Given the description of an element on the screen output the (x, y) to click on. 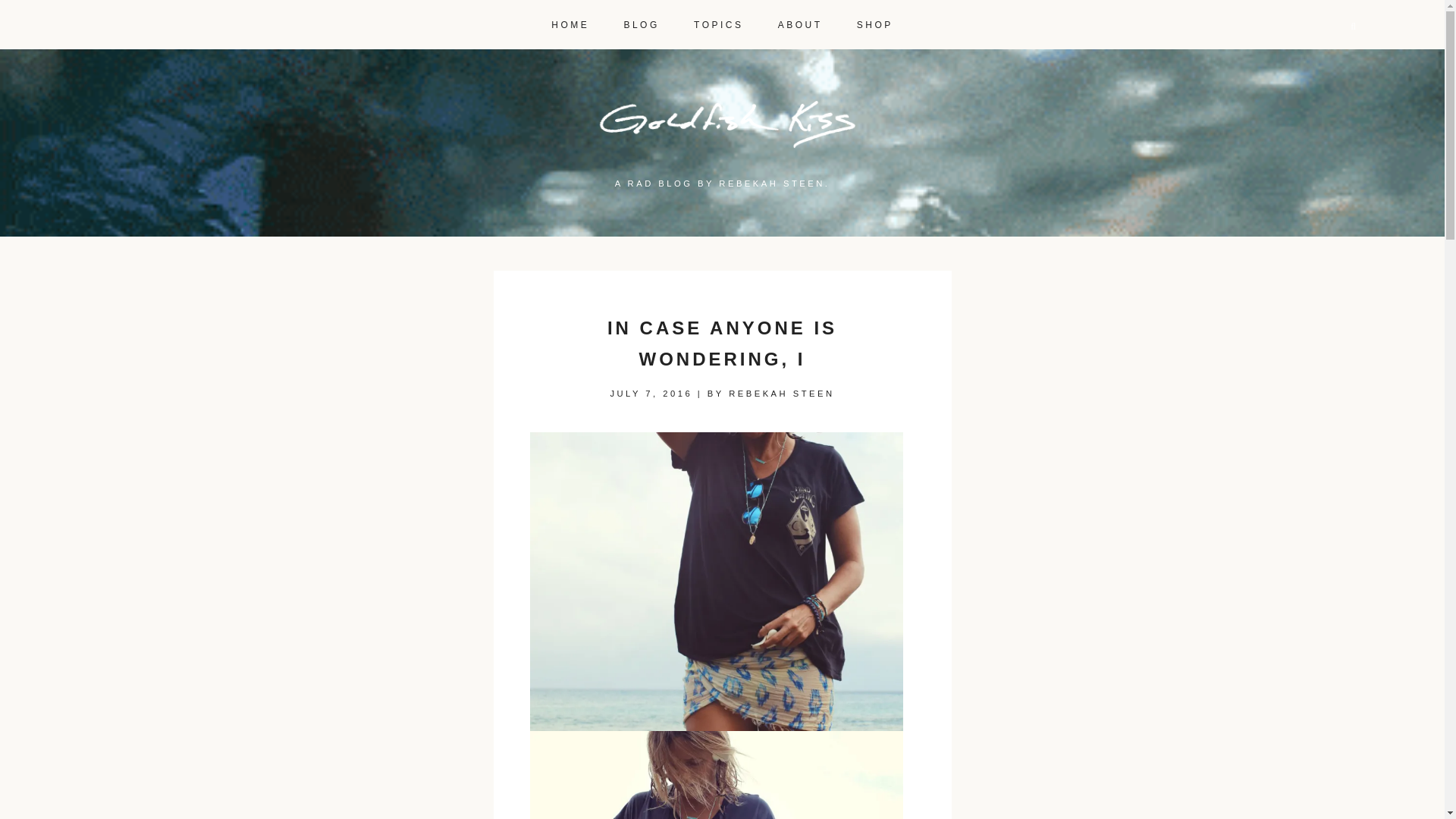
BLOG (641, 18)
ABOUT (799, 18)
TOPICS (718, 18)
JULY 7, 2016 (651, 393)
REBEKAH STEEN (781, 393)
SHOP (875, 18)
HOME (570, 18)
Search (28, 9)
Search for: (1311, 26)
